Given the description of an element on the screen output the (x, y) to click on. 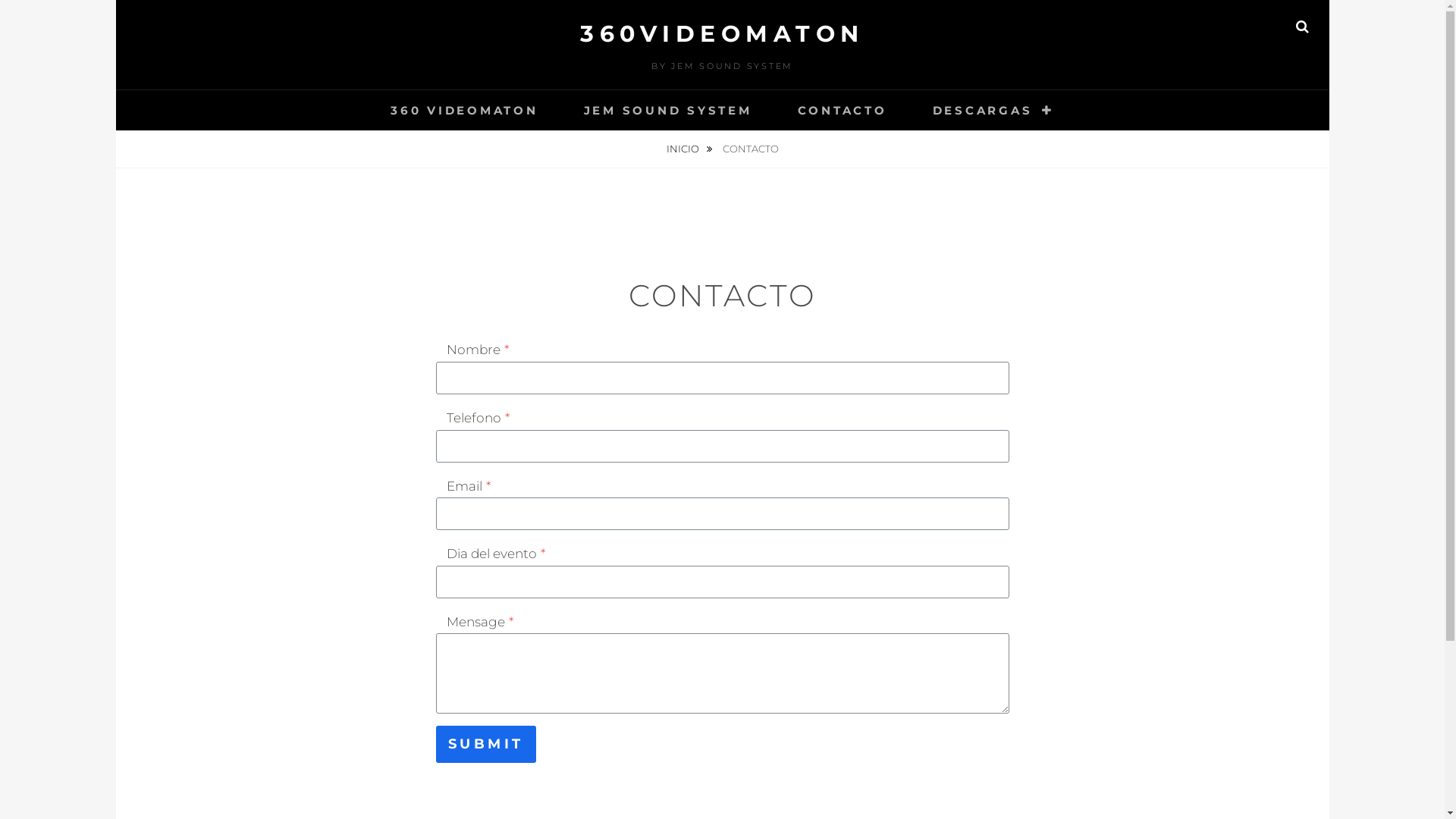
SUBMIT Element type: text (485, 743)
360 VIDEOMATON Element type: text (464, 110)
CONTACTO Element type: text (842, 110)
BUSCAR Element type: text (1302, 26)
JEM SOUND SYSTEM Element type: text (667, 110)
360VIDEOMATON Element type: text (722, 33)
INICIO Element type: text (689, 148)
DESCARGAS Element type: text (993, 110)
